Given the description of an element on the screen output the (x, y) to click on. 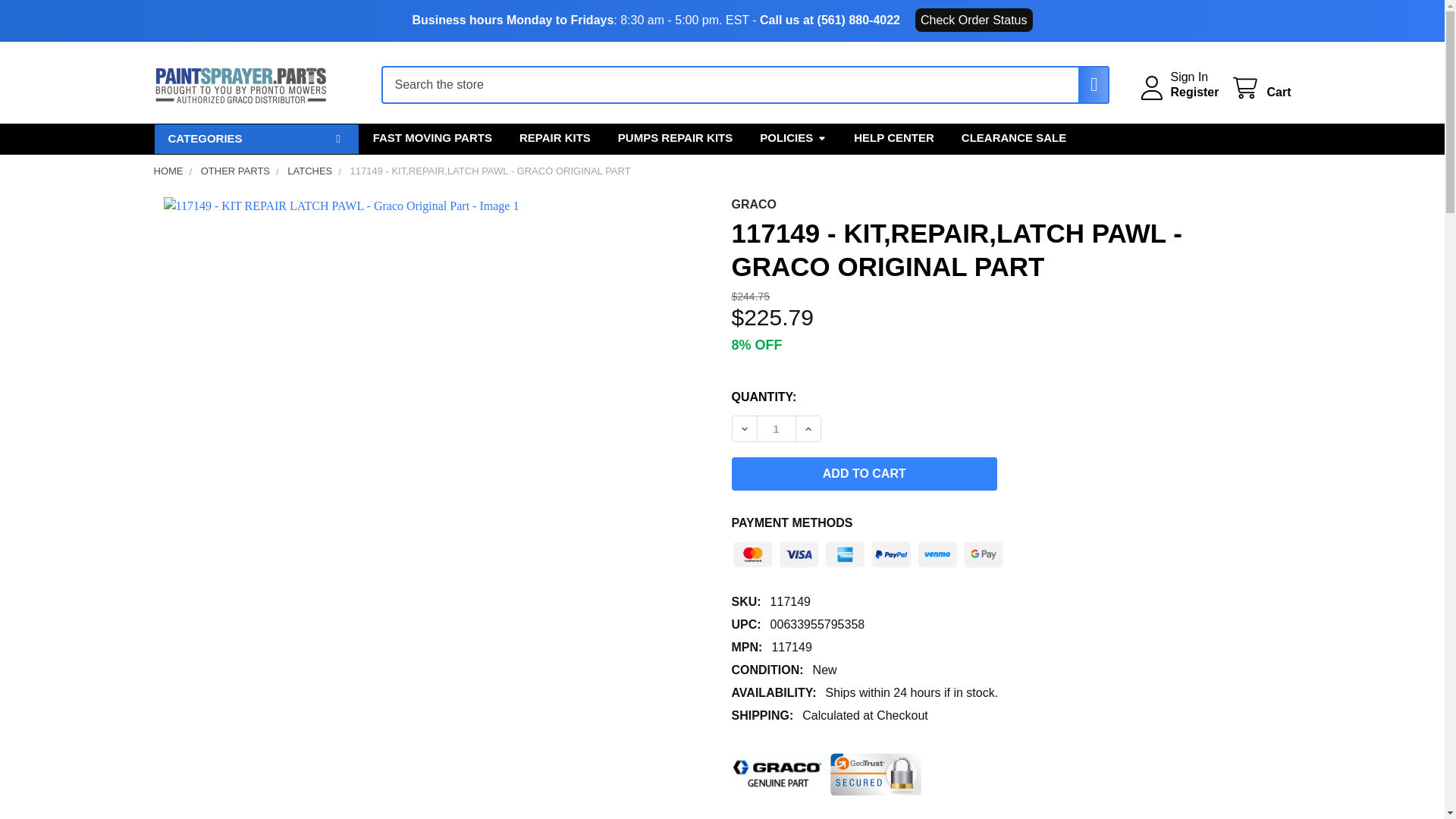
Cart (1260, 87)
Check Order Status (973, 19)
Payment Methods (867, 551)
Sign In (1189, 77)
CATEGORIES (255, 138)
Add to Cart (863, 473)
Register (1194, 92)
Search (1085, 85)
Search (1085, 85)
1 (775, 428)
Cart (1260, 87)
GeoTrust Secured (874, 773)
Paintsprayer Parts (239, 84)
Graco Original part (776, 773)
